Given the description of an element on the screen output the (x, y) to click on. 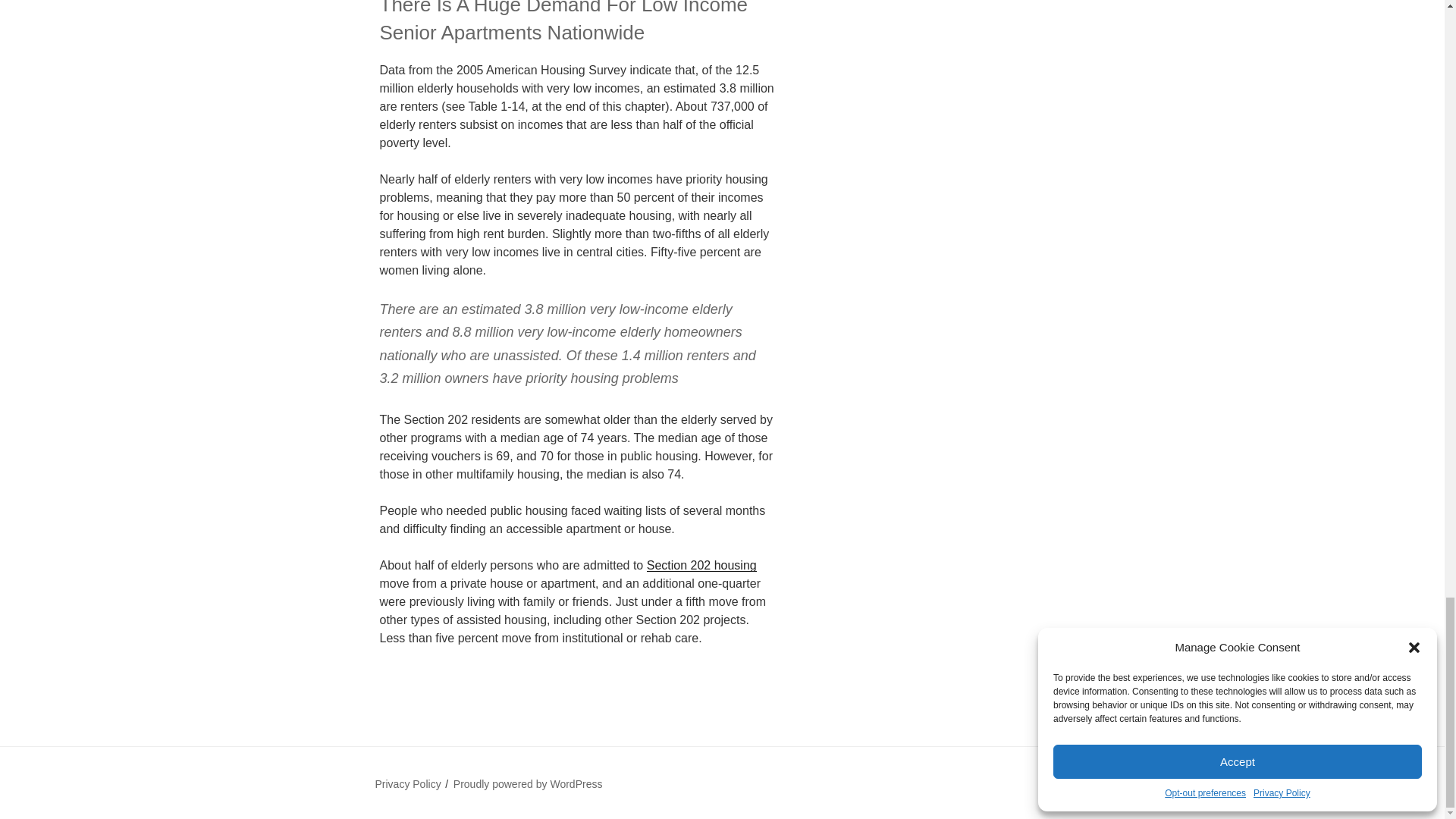
Privacy Policy (407, 784)
Proudly powered by WordPress (527, 784)
Section 202 housing (701, 564)
